Given the description of an element on the screen output the (x, y) to click on. 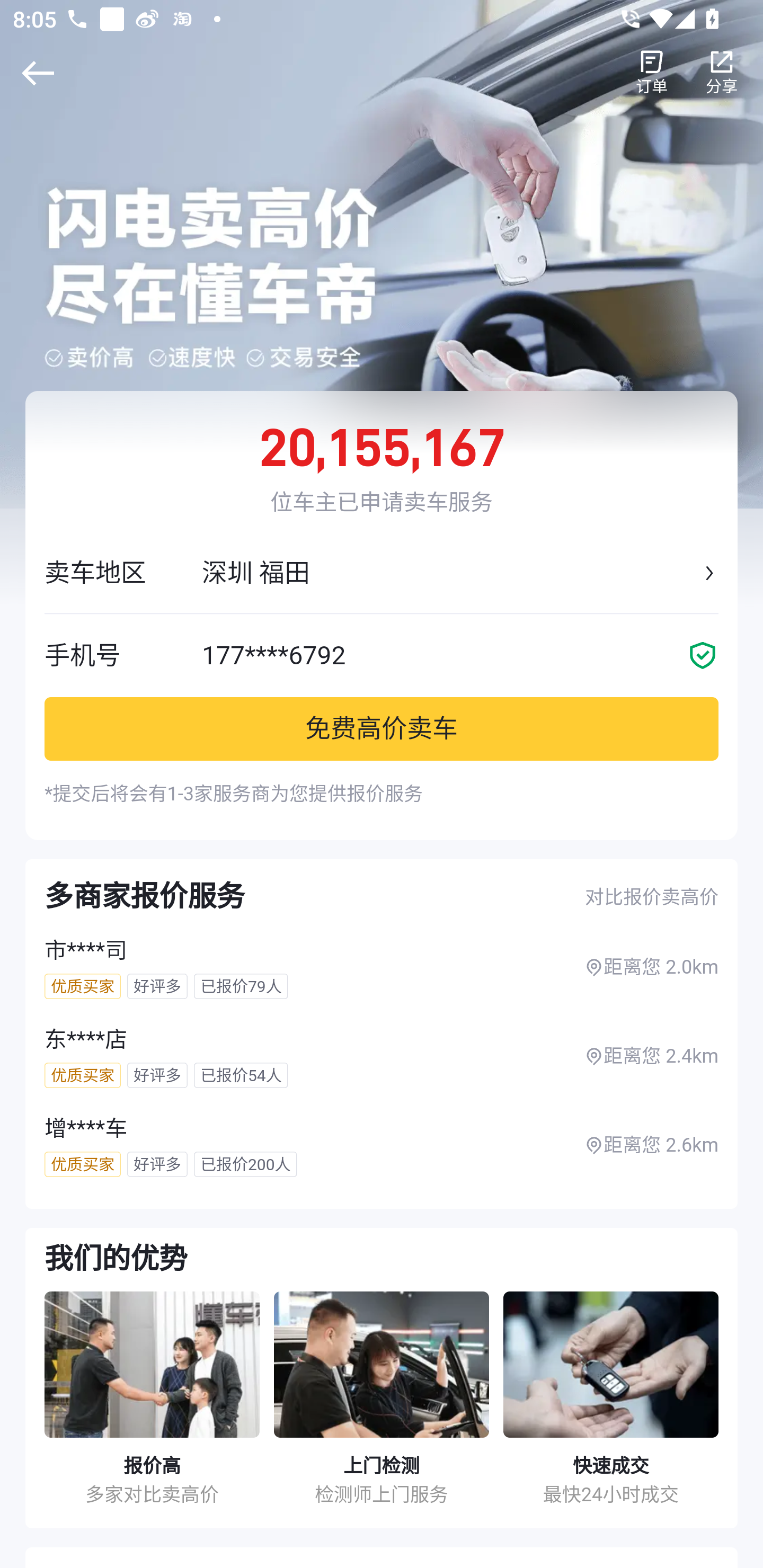
订单 (651, 72)
分享 (721, 72)
深圳 福田 (450, 572)
177****6792 (444, 655)
免费高价卖车 (381, 728)
